Given the description of an element on the screen output the (x, y) to click on. 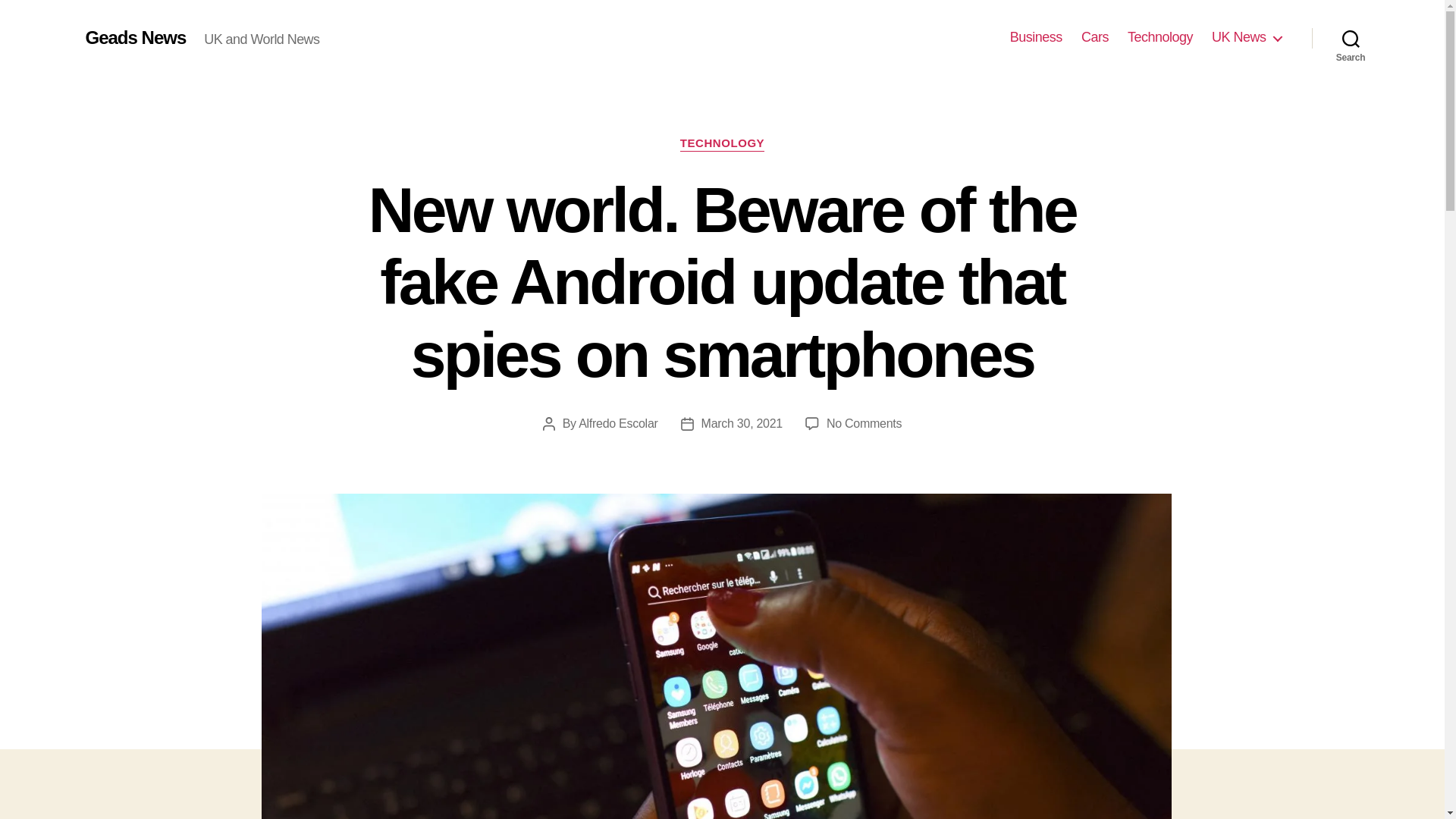
Cars (1094, 37)
TECHNOLOGY (721, 143)
Technology (1159, 37)
Business (1036, 37)
Geads News (135, 37)
UK News (1246, 37)
Alfredo Escolar (618, 422)
Search (1350, 37)
March 30, 2021 (742, 422)
